Given the description of an element on the screen output the (x, y) to click on. 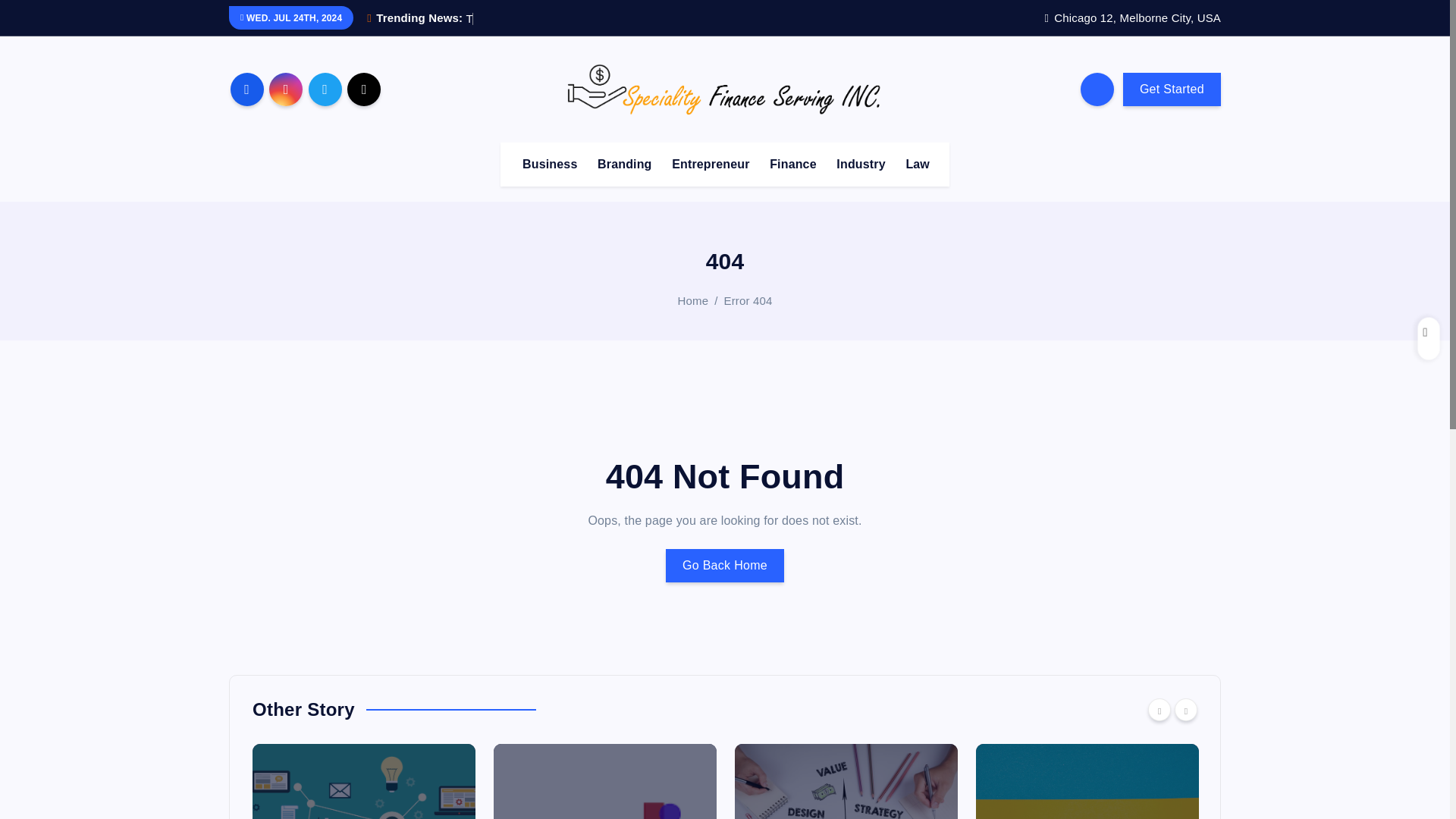
Finance (792, 164)
Entrepreneur (710, 164)
Industry (860, 164)
Business (549, 164)
Business (549, 164)
Branding (624, 164)
Get Started (1171, 89)
Law (917, 164)
Industry (860, 164)
Home (693, 300)
Finance (792, 164)
Entrepreneur (710, 164)
Branding (624, 164)
Go Back Home (724, 565)
Law (917, 164)
